Given the description of an element on the screen output the (x, y) to click on. 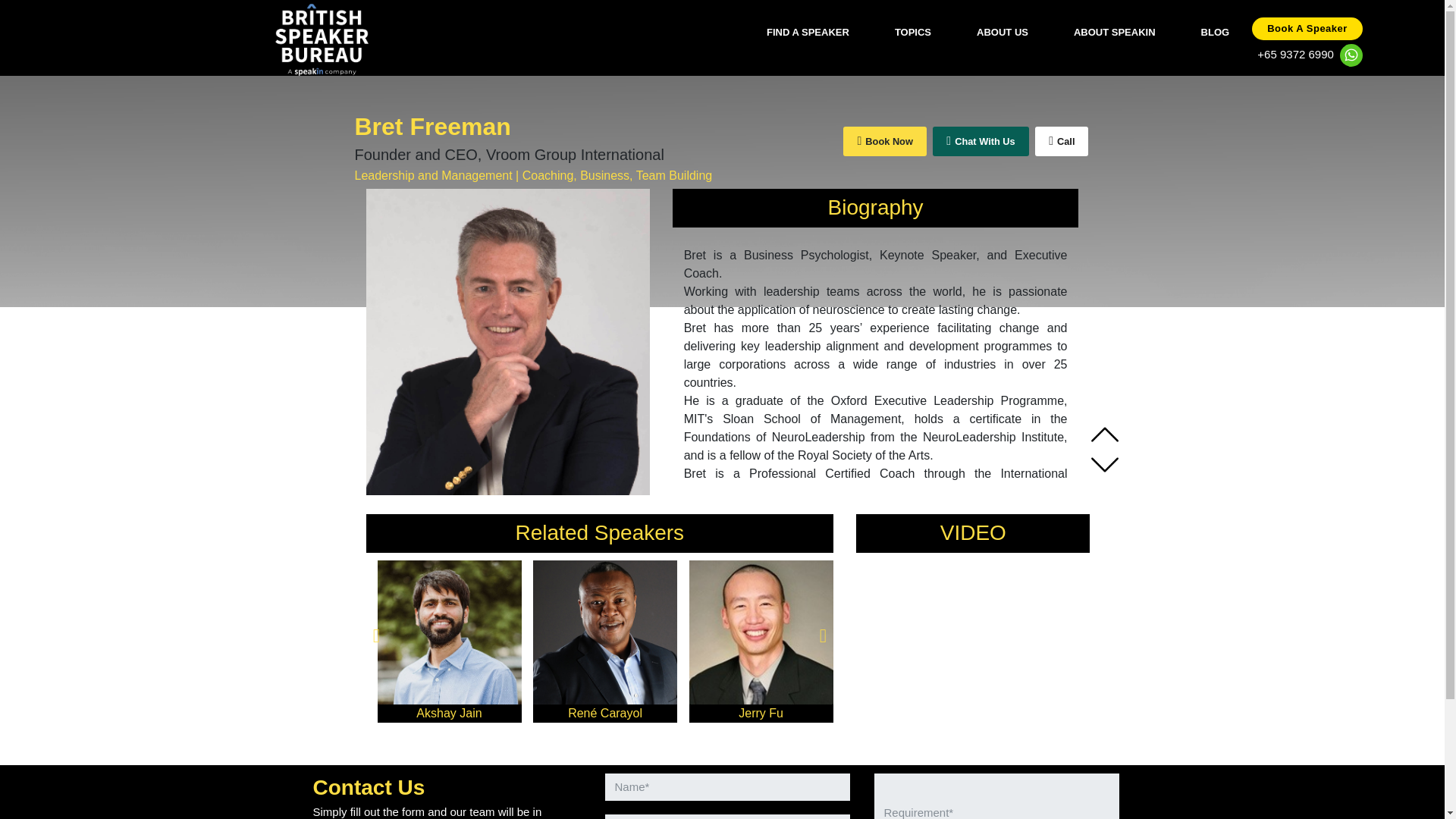
Book Now (884, 141)
ABOUT US (1002, 27)
Jerry Fu (760, 673)
BLOG (1214, 27)
Book A Speaker (1307, 27)
WhatsApp (1350, 55)
WhatsApp (980, 141)
Akshay Jain (449, 673)
ABOUT SPEAKIN (1114, 27)
TOPICS (912, 27)
